Given the description of an element on the screen output the (x, y) to click on. 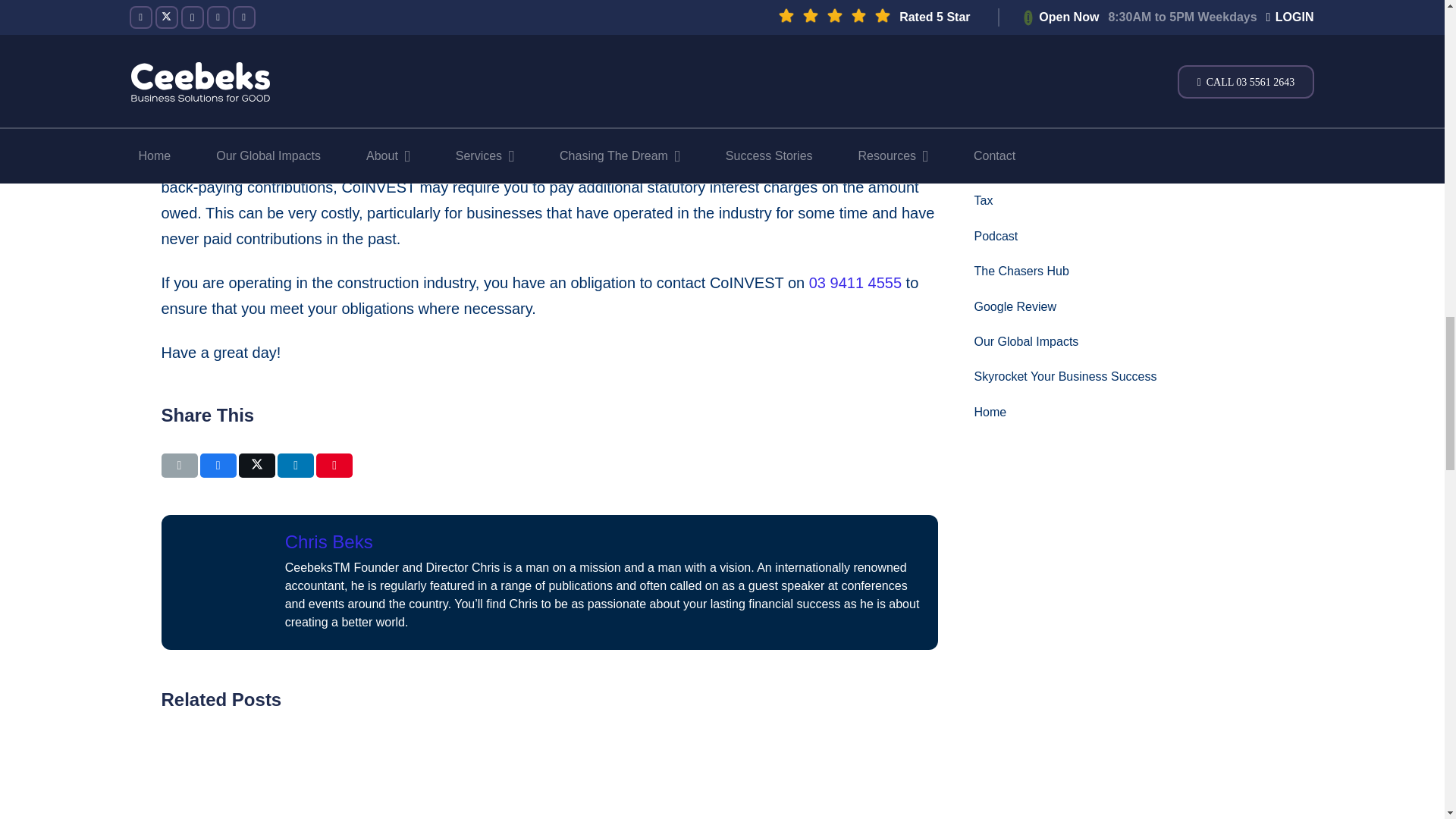
Tweet this (256, 465)
Pin this (333, 465)
Email this (178, 465)
Share this (217, 465)
Share this (296, 465)
